Given the description of an element on the screen output the (x, y) to click on. 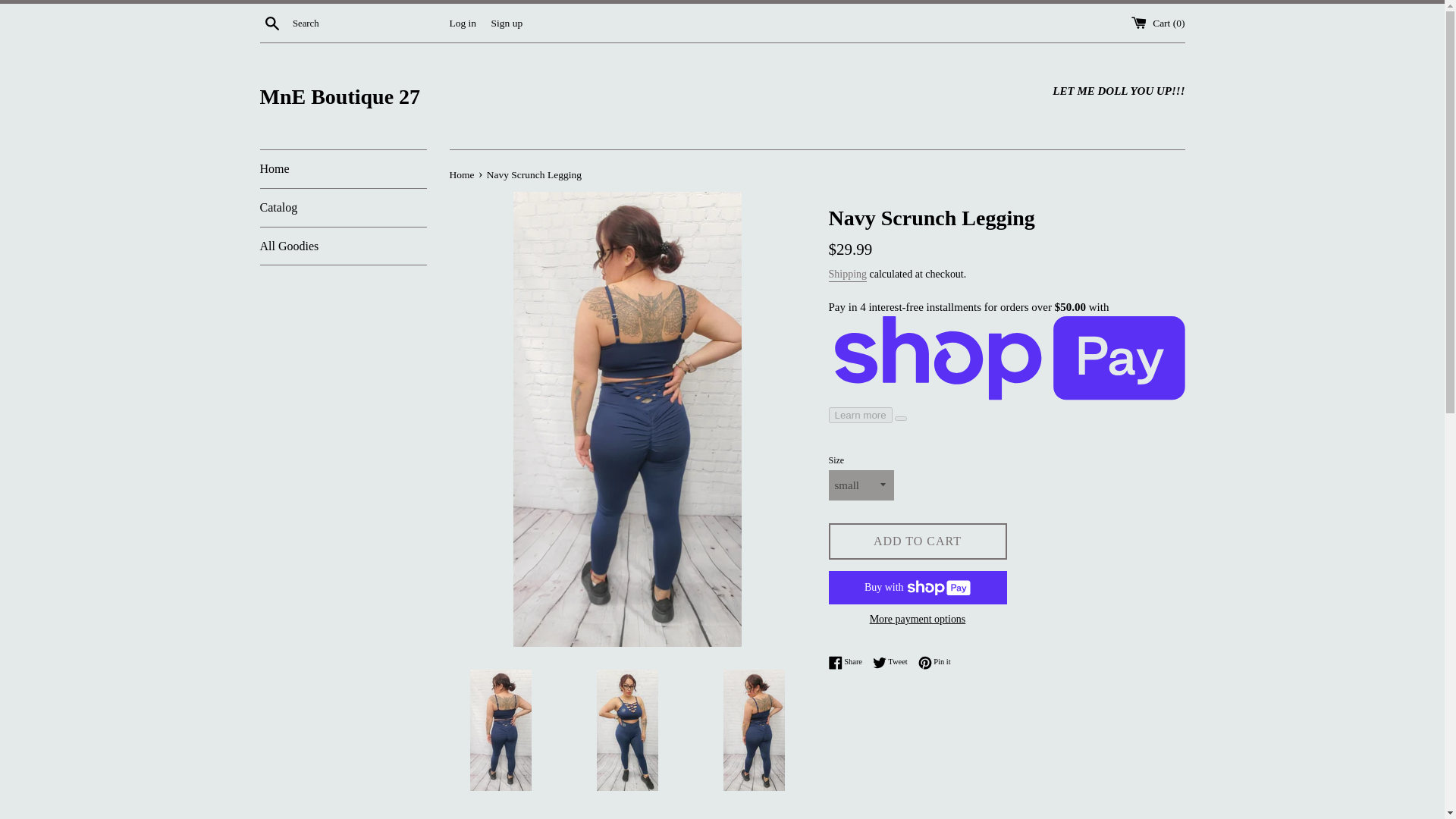
Home (462, 174)
Pin on Pinterest (893, 662)
All Goodies (933, 662)
Shipping (933, 662)
Search (342, 246)
ADD TO CART (847, 274)
More payment options (271, 21)
MnE Boutique 27 (917, 541)
